Given the description of an element on the screen output the (x, y) to click on. 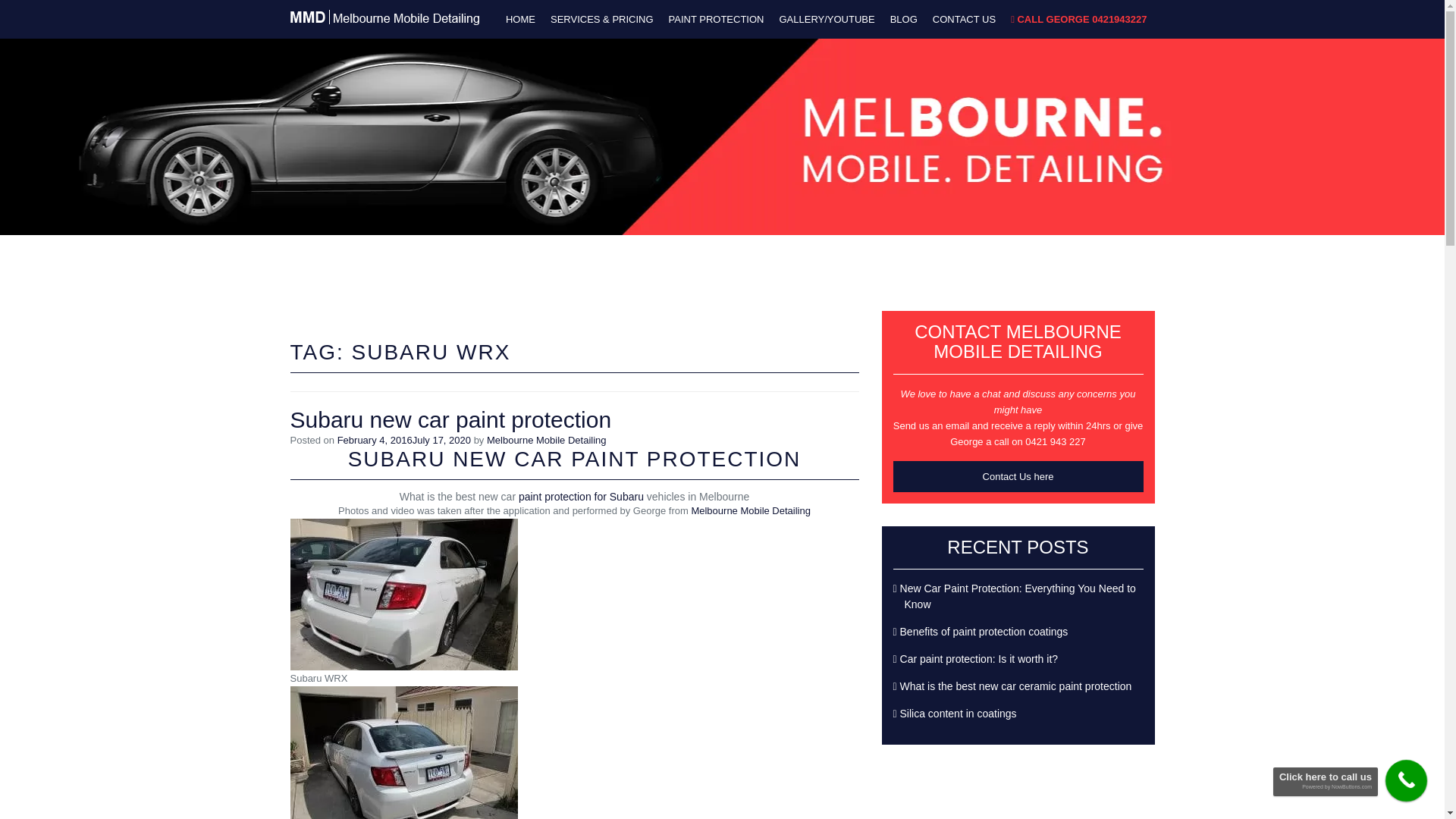
Silica content in coatings Element type: text (958, 713)
What is the best new car ceramic paint protection Element type: text (1016, 686)
Melbourne Mobile Detailing Element type: text (546, 439)
February 4, 2016July 17, 2020 Element type: text (403, 439)
HOME Element type: text (520, 19)
call Element type: text (1400, 775)
BLOG Element type: text (903, 19)
Melbourne Mobile Detailing Element type: text (750, 510)
paint protection for Subaru Element type: text (580, 496)
Benefits of paint protection coatings Element type: text (984, 631)
CONTACT US Element type: text (964, 19)
NEW CAR PAINT PROTECTION Element type: text (626, 458)
Contact Us here Element type: text (1018, 476)
New Car Paint Protection: Everything You Need to Know Element type: text (1017, 596)
PAINT PROTECTION Element type: text (716, 19)
SERVICES & PRICING Element type: text (601, 19)
Car paint protection: Is it worth it? Element type: text (979, 658)
Subaru new car paint protection Element type: text (450, 419)
GALLERY/YOUTUBE Element type: text (826, 19)
Best paint protection in Melbourne Element type: text (364, 7)
